Given the description of an element on the screen output the (x, y) to click on. 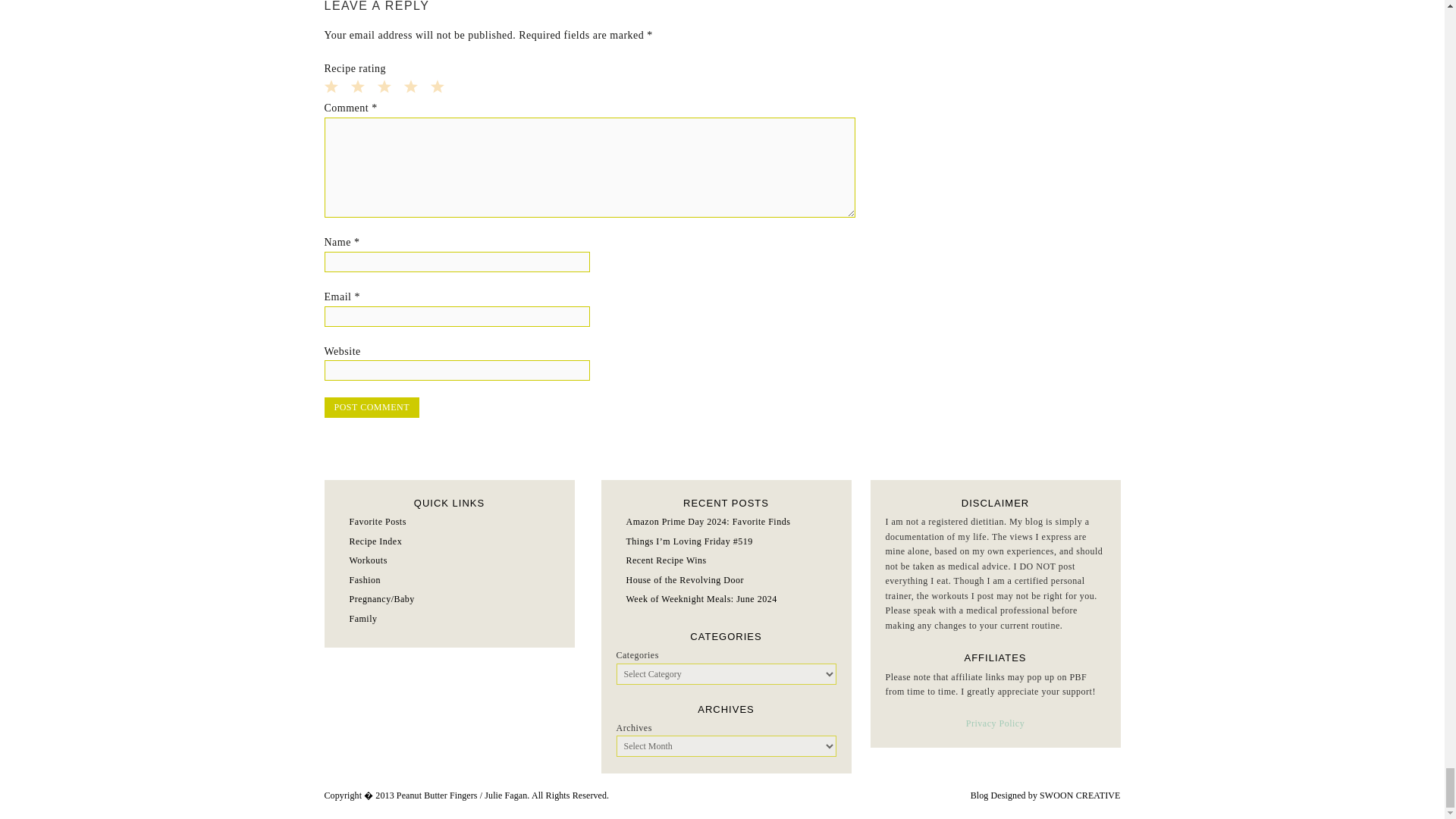
Post Comment (371, 407)
